Given the description of an element on the screen output the (x, y) to click on. 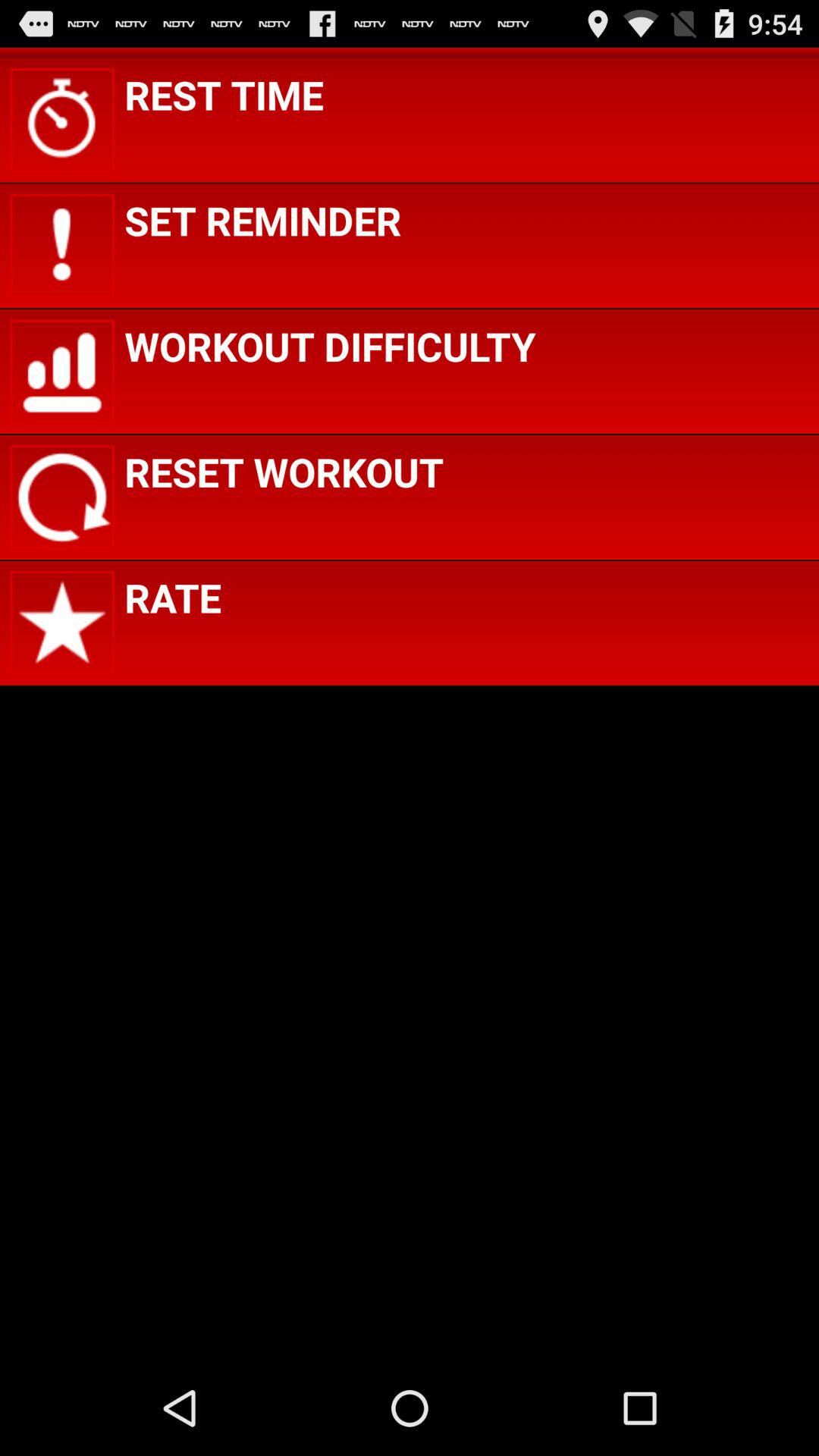
click item below workout difficulty (283, 471)
